Given the description of an element on the screen output the (x, y) to click on. 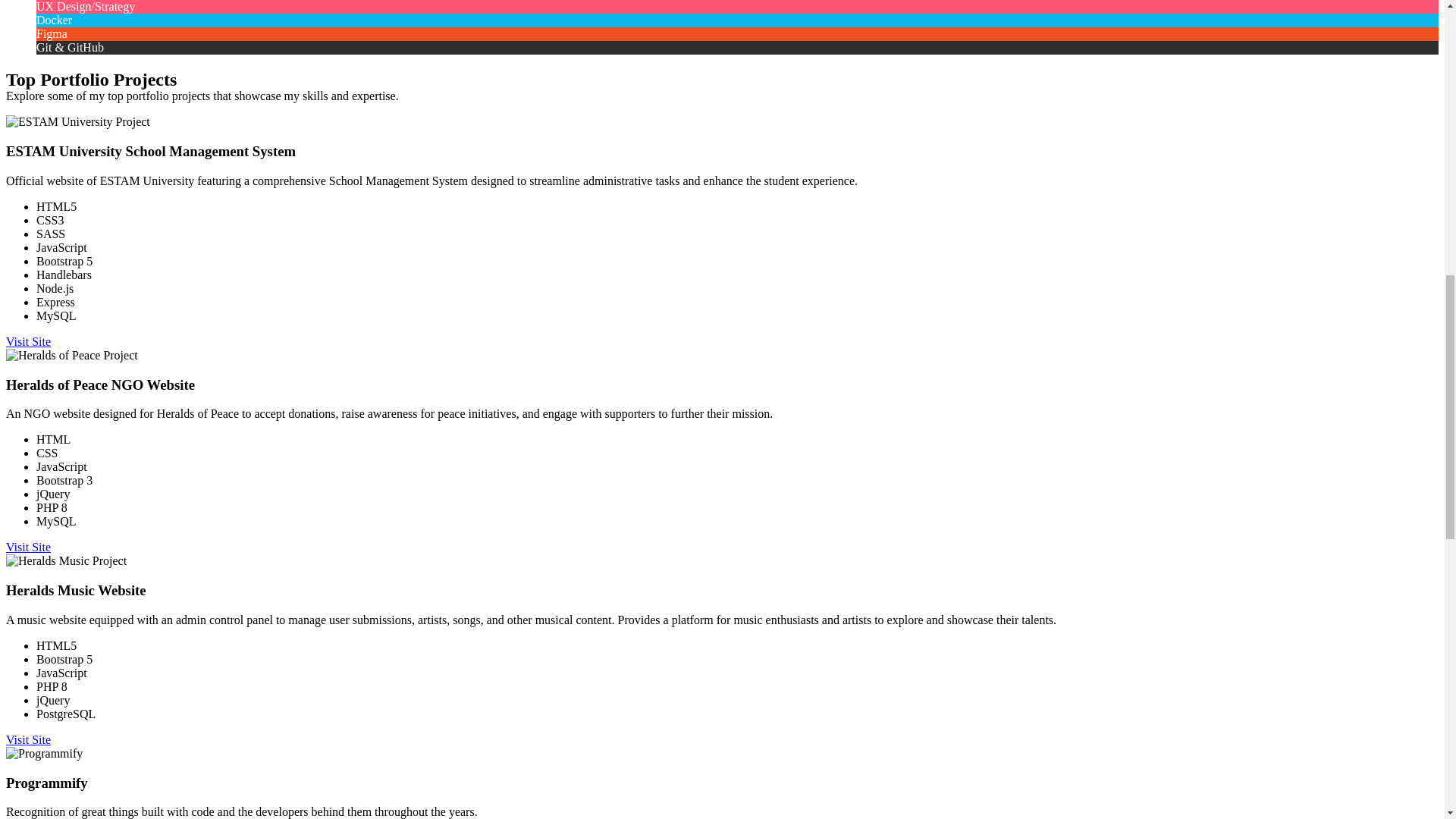
Visit Site (27, 341)
Visit Site (27, 739)
Visit Site (27, 546)
